Given the description of an element on the screen output the (x, y) to click on. 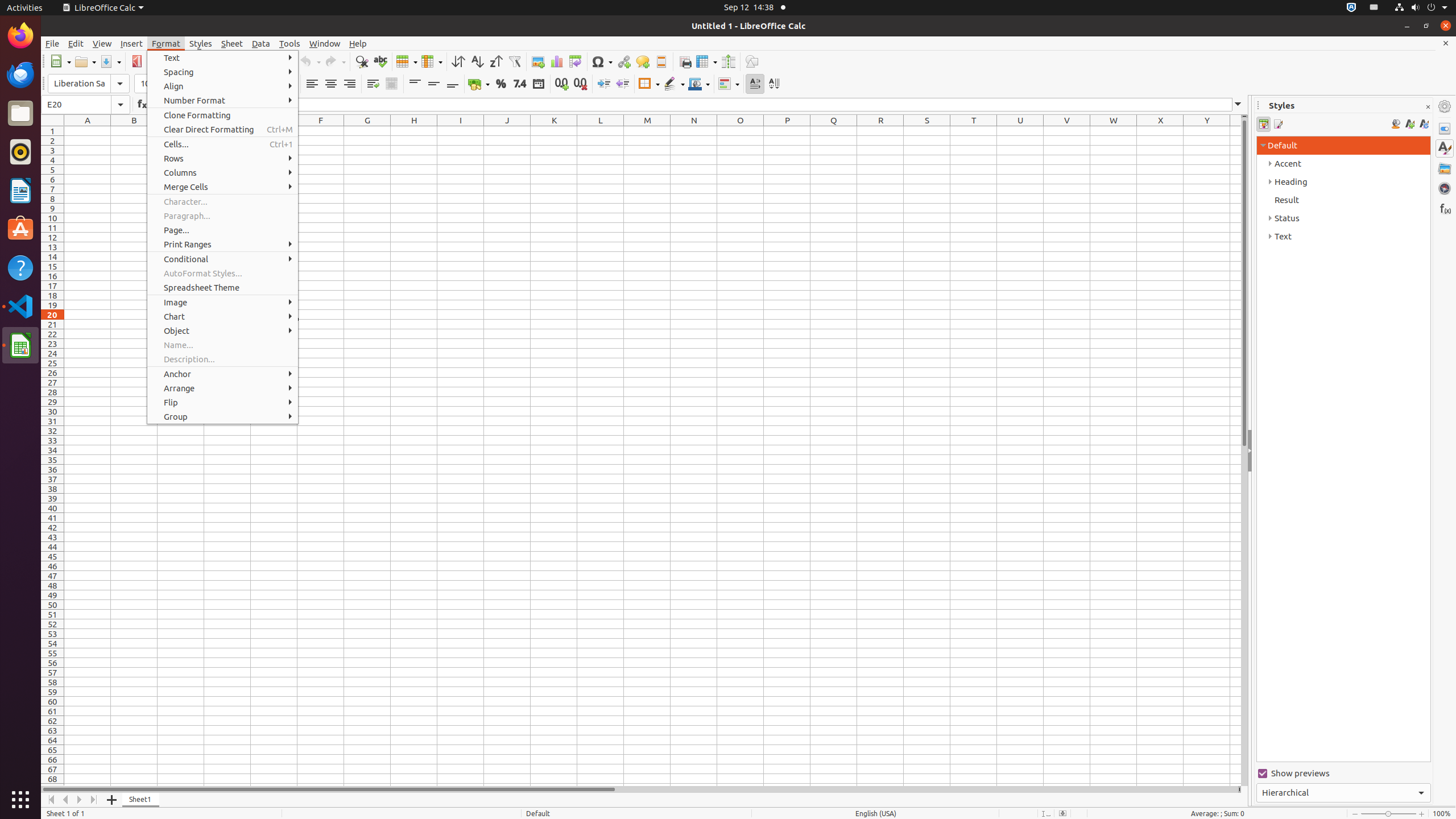
Expand Formula Bar Element type: push-button (1237, 104)
L1 Element type: table-cell (600, 130)
Align Center Element type: push-button (330, 83)
N1 Element type: table-cell (693, 130)
LibreOffice Calc Element type: push-button (20, 344)
